Given the description of an element on the screen output the (x, y) to click on. 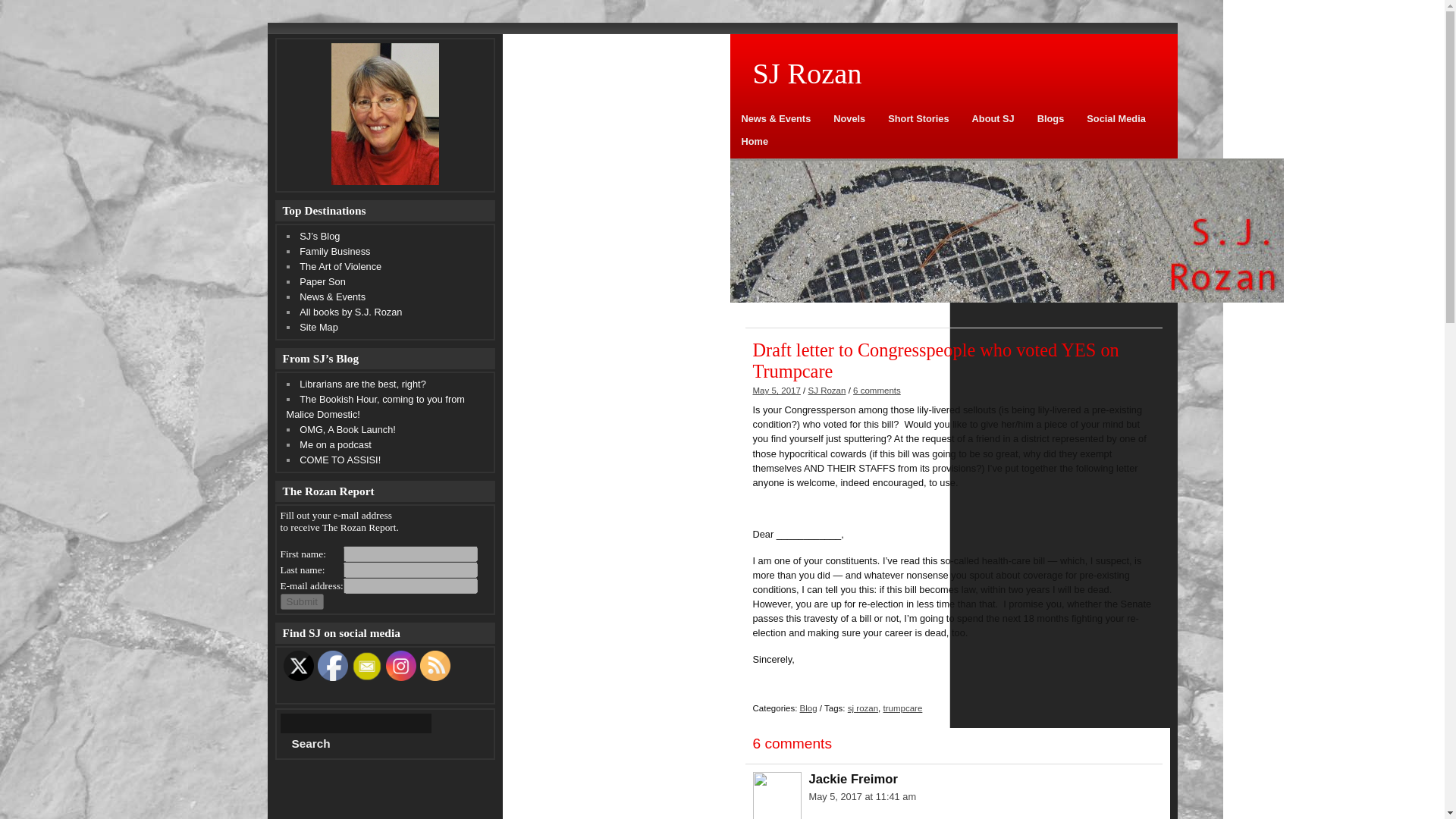
SJ Rozan (952, 73)
Search (310, 743)
Submit (302, 601)
Twitter (298, 665)
Novels (849, 124)
Instagram (399, 665)
Posts by SJ Rozan (826, 389)
RSS (434, 665)
Facebook (332, 665)
